Given the description of an element on the screen output the (x, y) to click on. 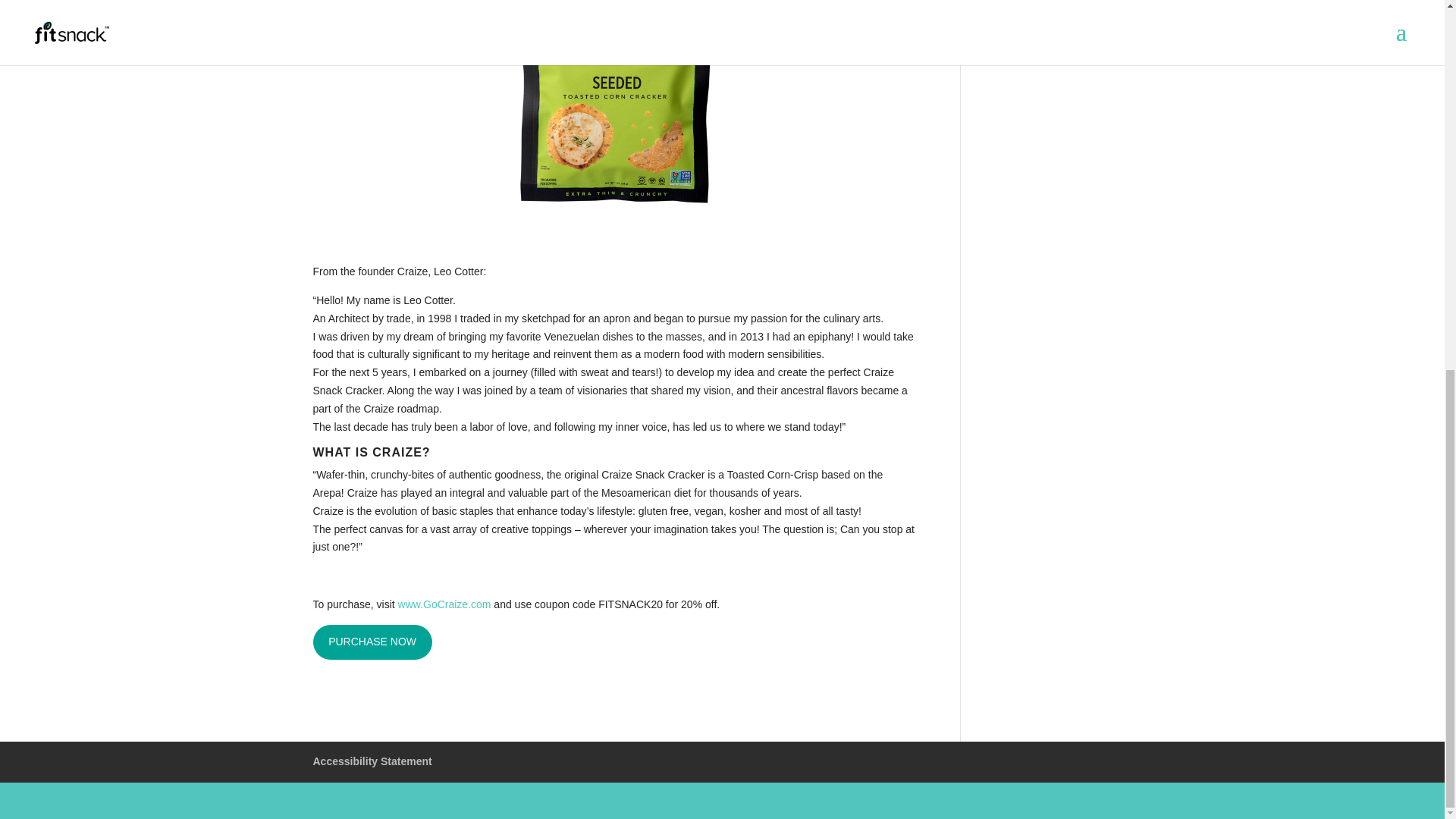
PURCHASE NOW (371, 642)
www.GoCraize.com (444, 604)
Accessibility Statement (371, 761)
